Given the description of an element on the screen output the (x, y) to click on. 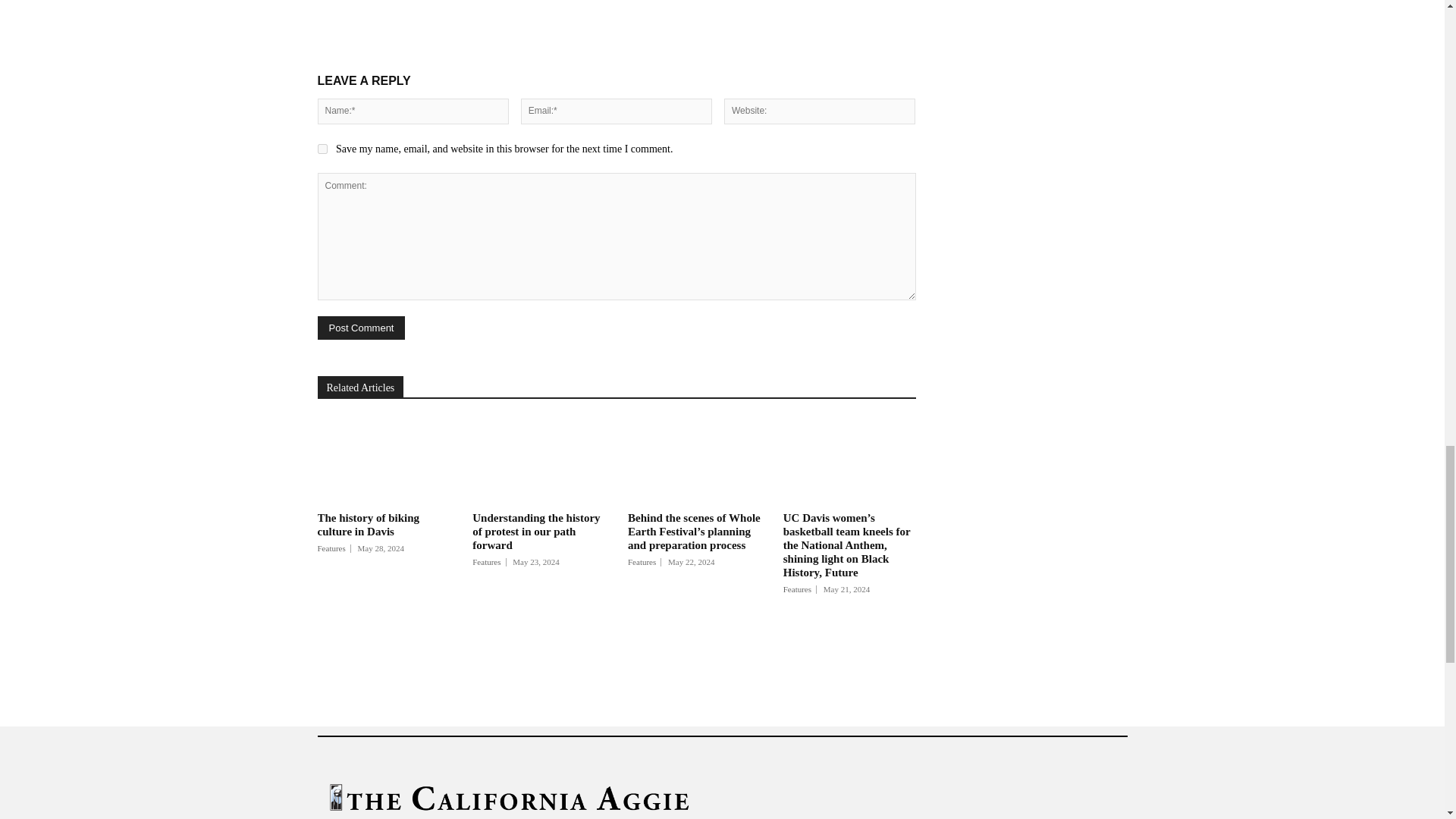
yes (321, 148)
Post Comment (360, 327)
